Given the description of an element on the screen output the (x, y) to click on. 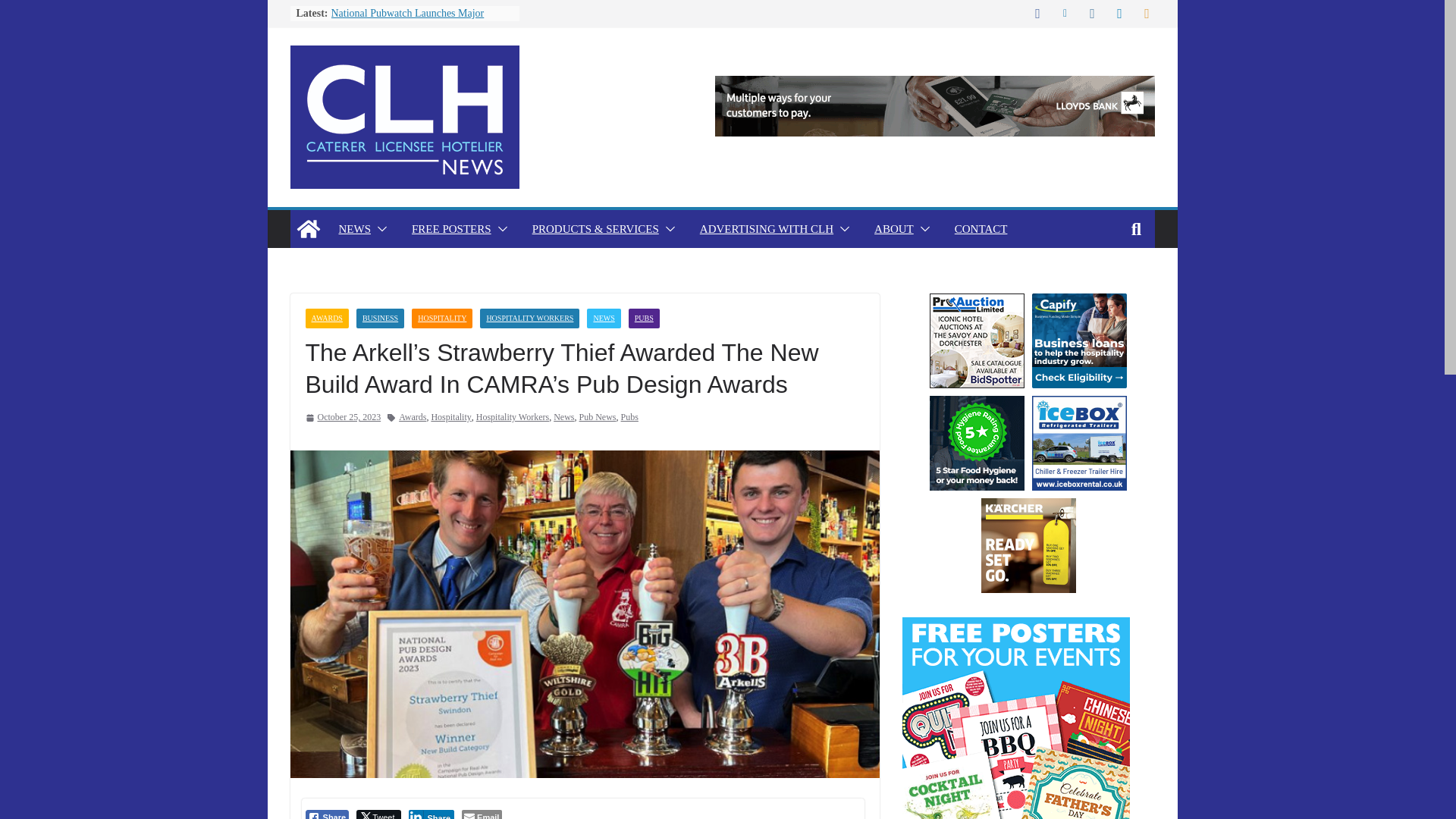
FREE POSTERS (452, 228)
NEWS (354, 228)
12:56 pm (342, 417)
CLH News: Caterer, Licensee and Hotelier News (307, 228)
